Given the description of an element on the screen output the (x, y) to click on. 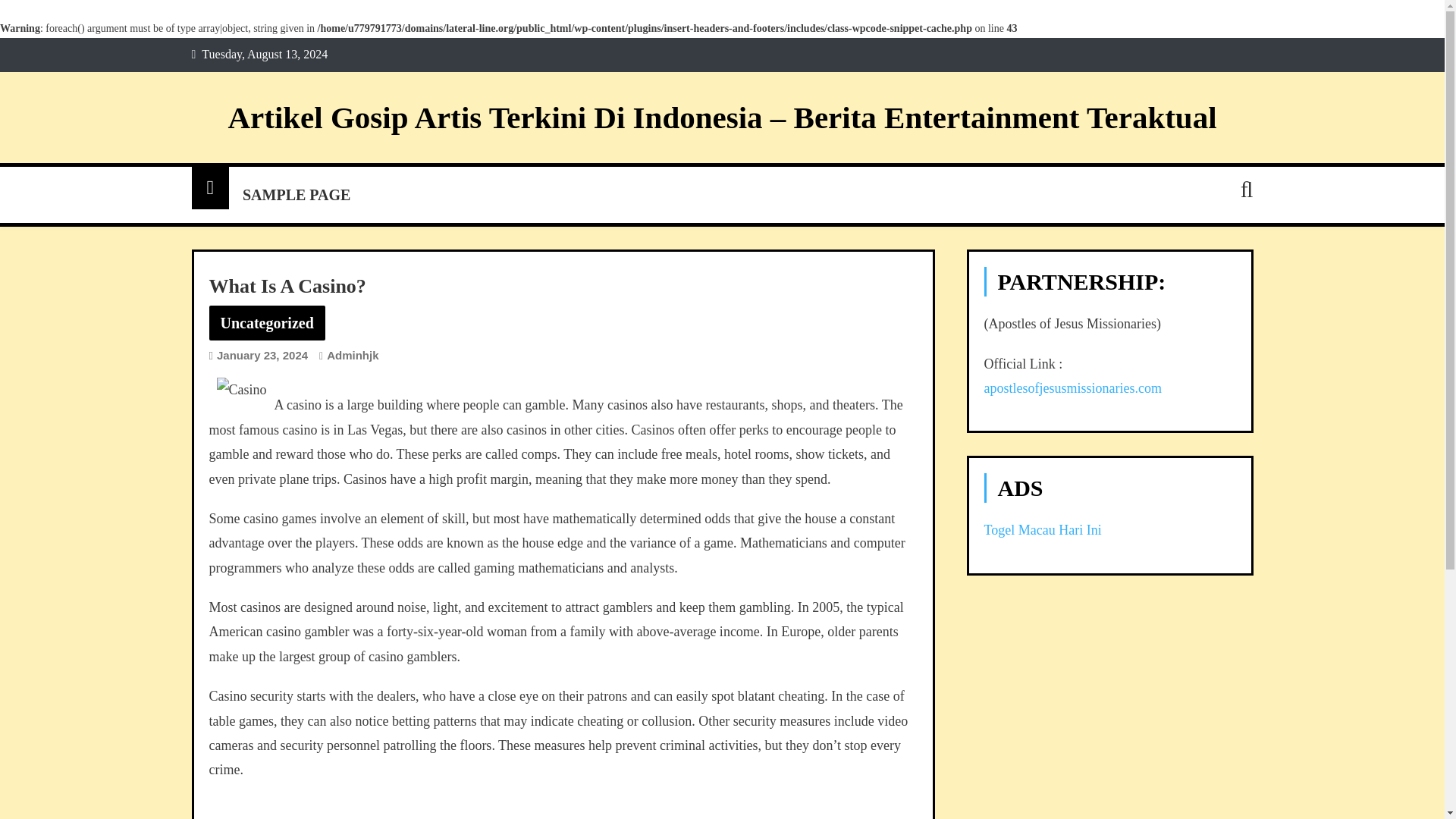
Togel Macau Hari Ini (1043, 529)
Uncategorized (266, 322)
SAMPLE PAGE (296, 194)
apostlesofjesusmissionaries.com (1072, 387)
Adminhjk (352, 354)
Search (1221, 248)
January 23, 2024 (261, 354)
